Given the description of an element on the screen output the (x, y) to click on. 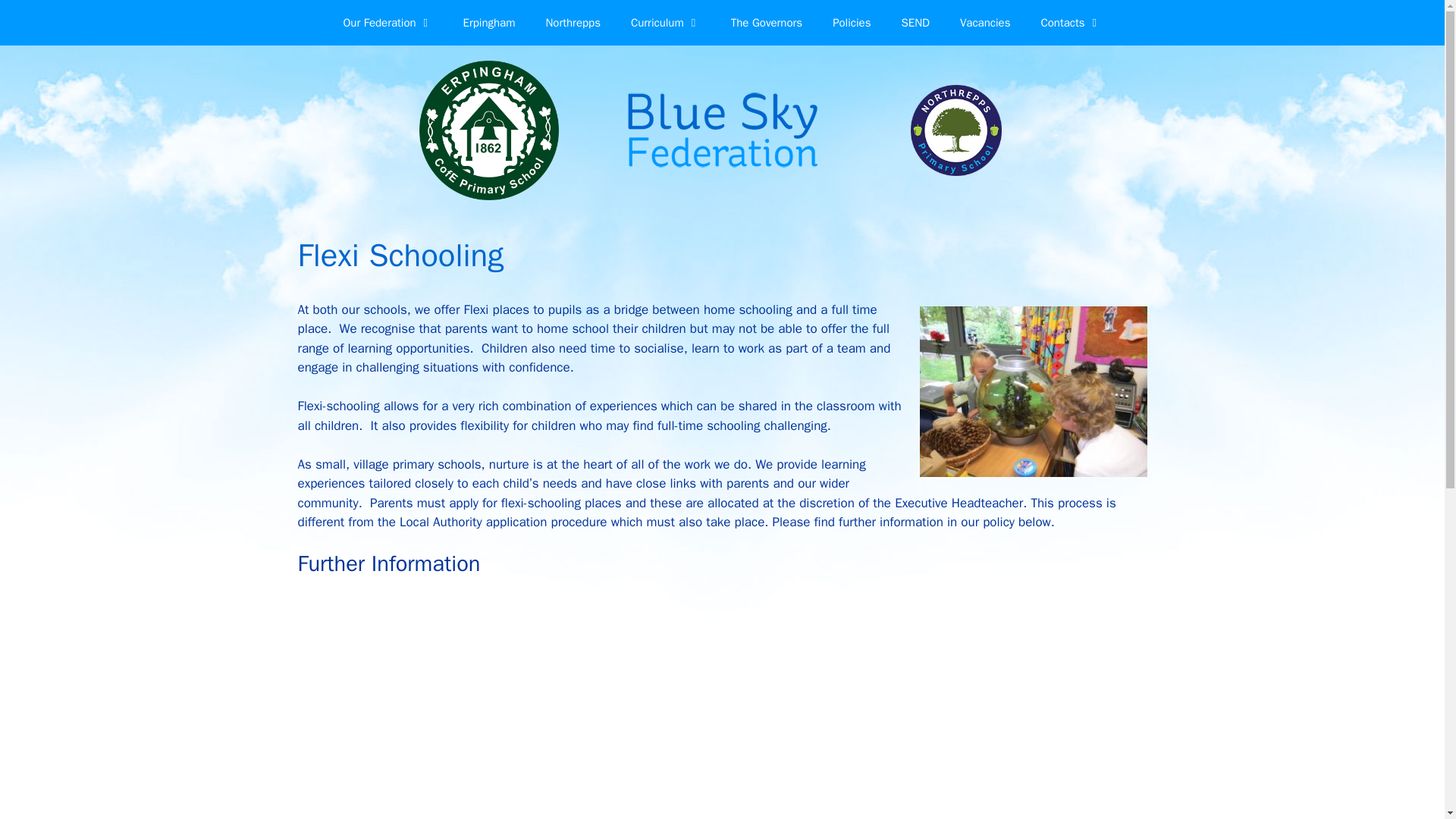
Policies (850, 22)
Northrepps (571, 22)
Curriculum (665, 22)
The Governors (766, 22)
Contacts (1070, 22)
SEND (914, 22)
Erpingham (489, 22)
Our Federation (386, 22)
Vacancies (985, 22)
